Given the description of an element on the screen output the (x, y) to click on. 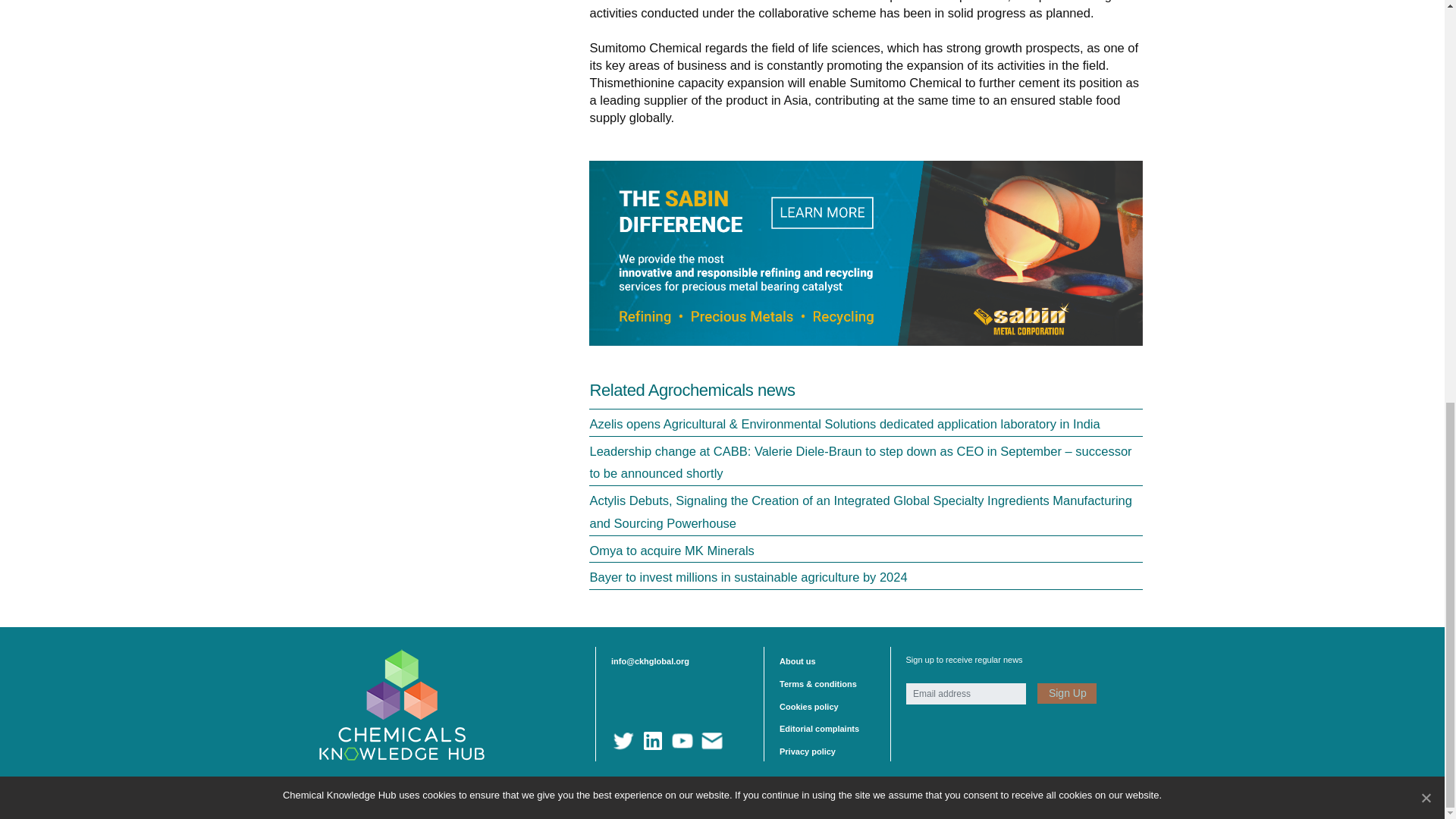
Sign Up (1066, 693)
Omya to acquire MK Minerals (671, 550)
Bayer to invest millions in sustainable agriculture by 2024 (748, 576)
linkedin (652, 740)
twitter (622, 740)
